Given the description of an element on the screen output the (x, y) to click on. 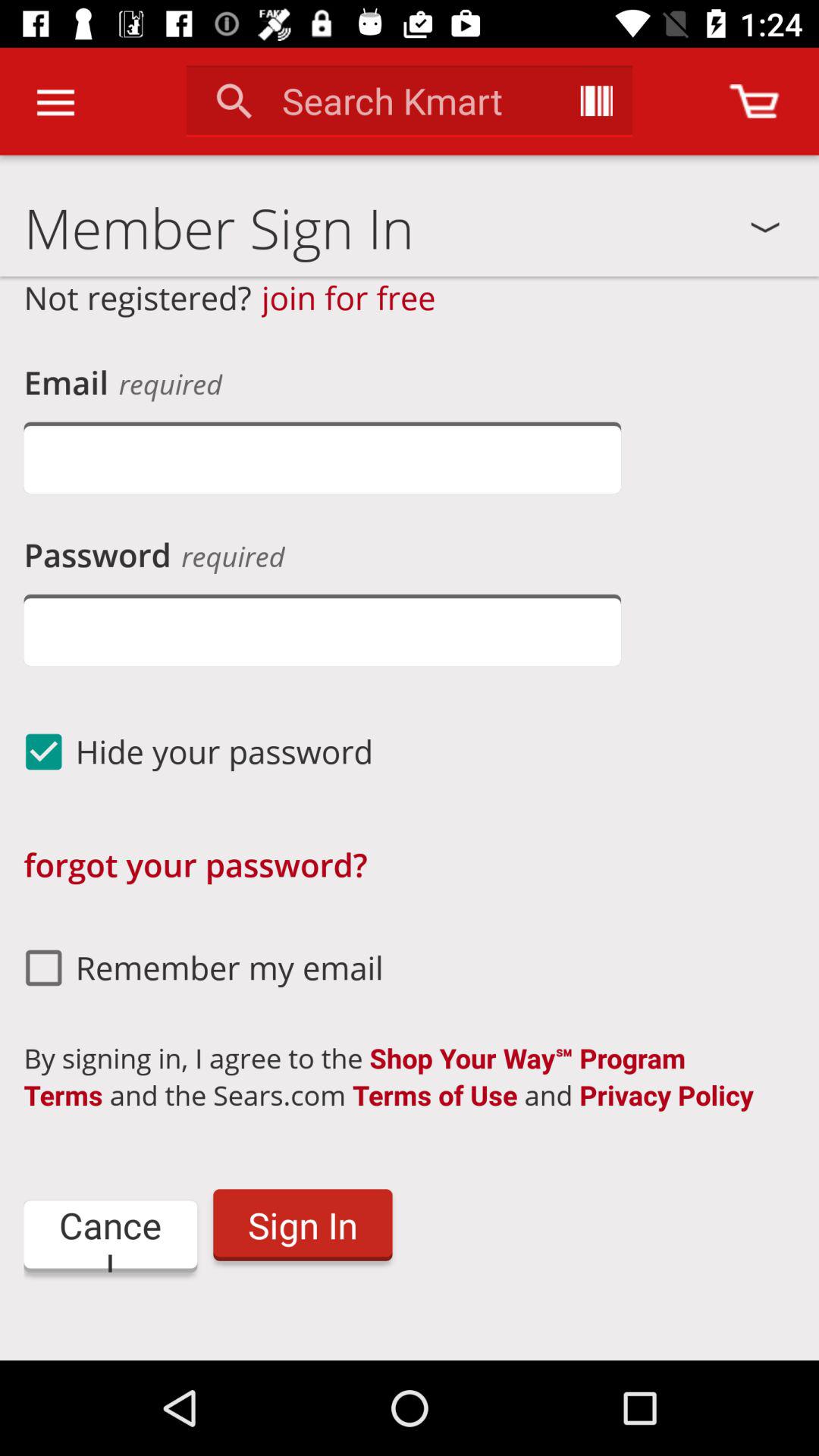
turn off the icon above member sign in icon (55, 102)
